Given the description of an element on the screen output the (x, y) to click on. 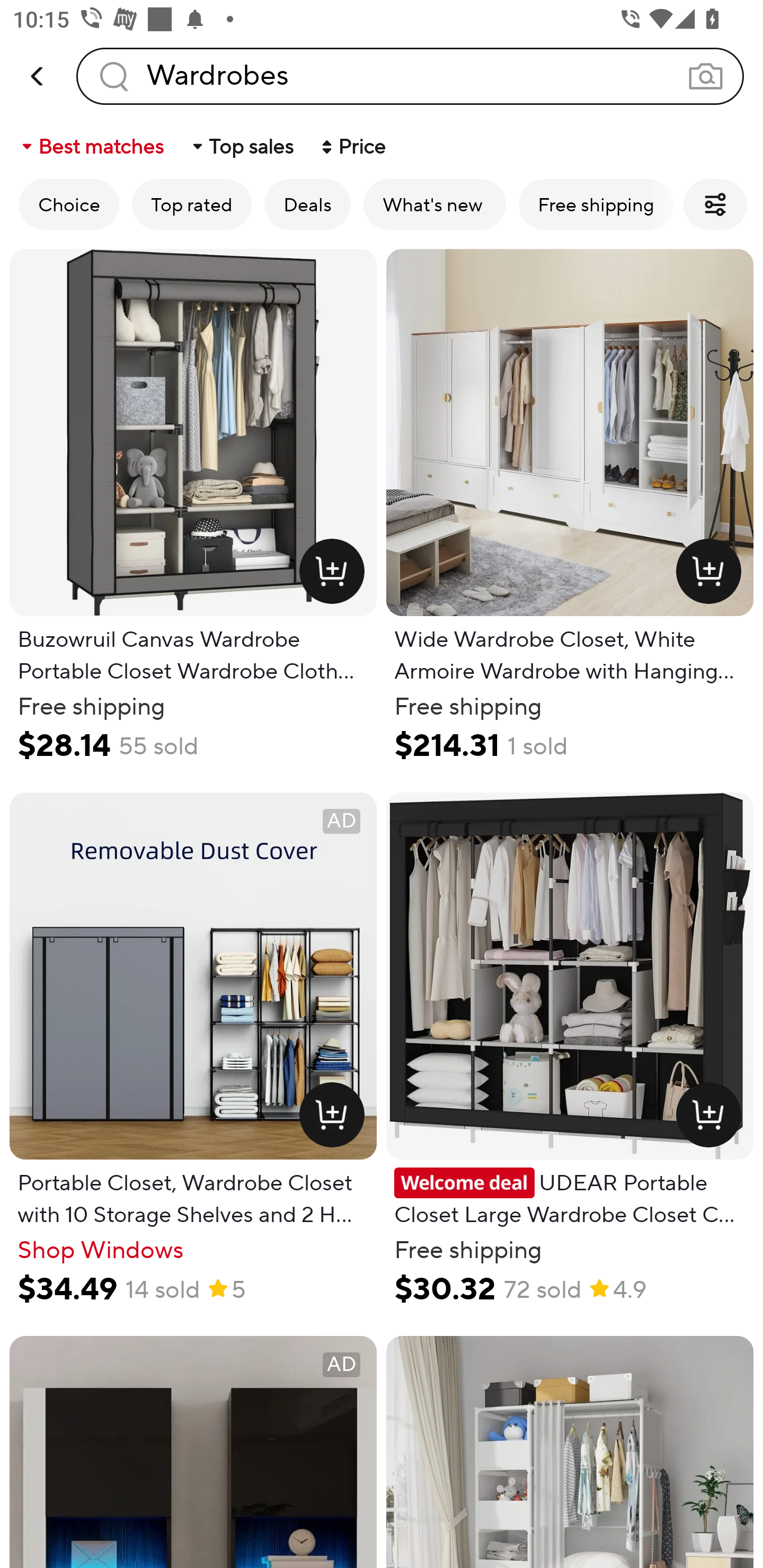
back (38, 75)
Wardrobes Search query (409, 76)
Wardrobes Search query (409, 76)
Best matches (91, 146)
Top sales (241, 146)
Price (352, 146)
Choice (69, 204)
Top rated (191, 204)
Deals (307, 204)
What's new  (434, 204)
Free shipping (595, 204)
